Given the description of an element on the screen output the (x, y) to click on. 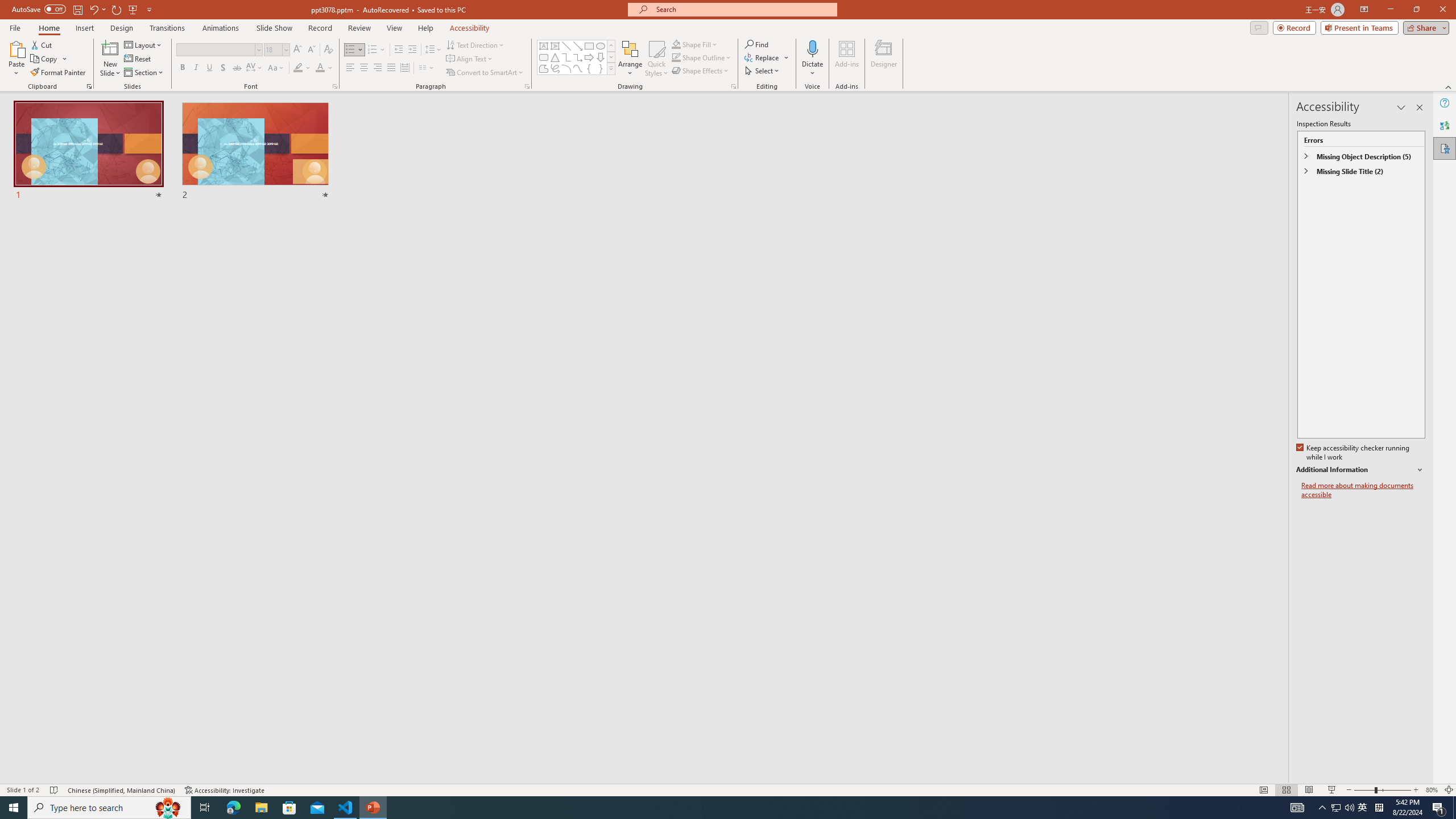
Zoom 80% (1431, 790)
